Given the description of an element on the screen output the (x, y) to click on. 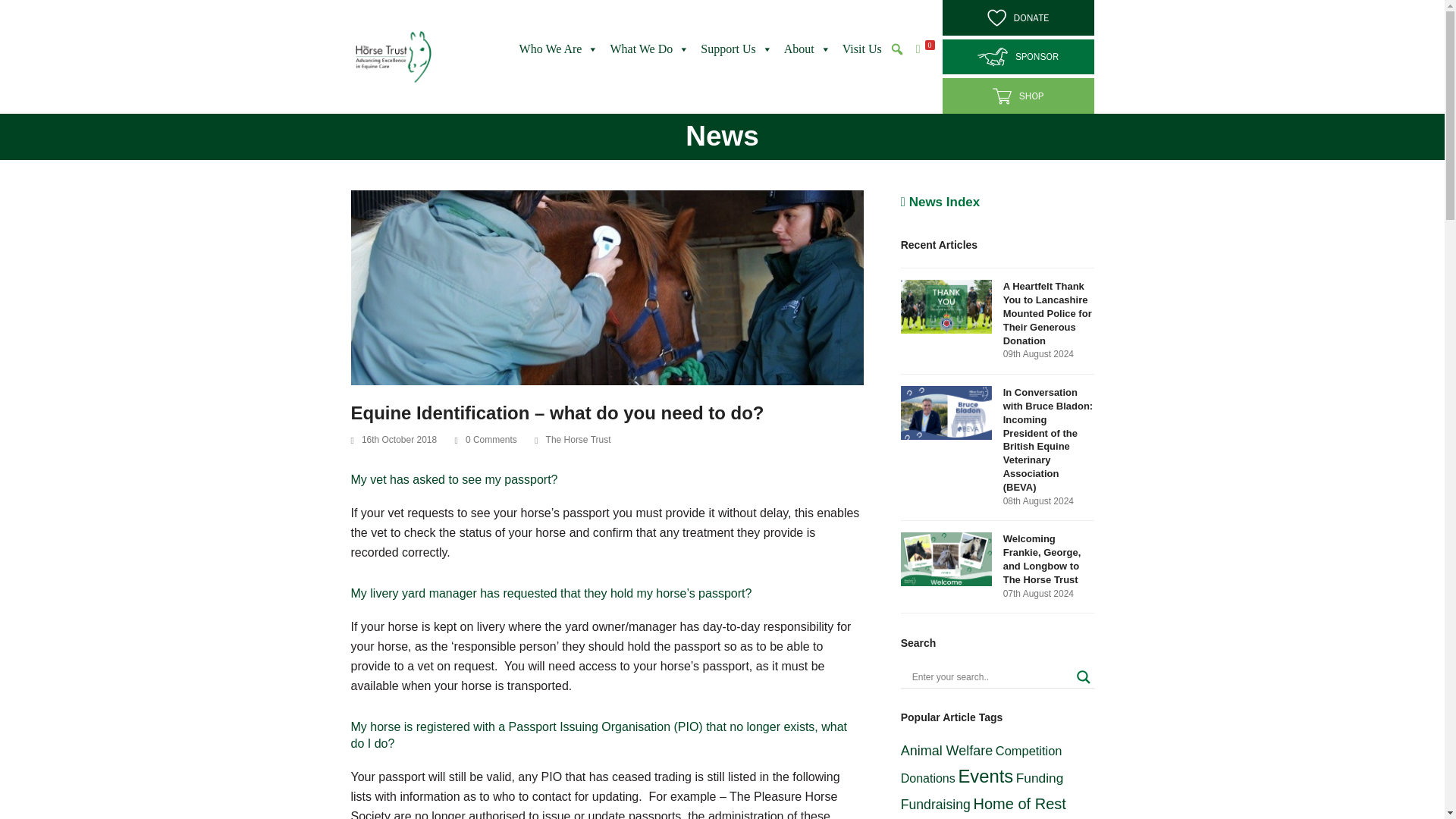
Who We Are (557, 48)
Support Us (734, 48)
0 Comments (485, 440)
What We Do (647, 48)
